Given the description of an element on the screen output the (x, y) to click on. 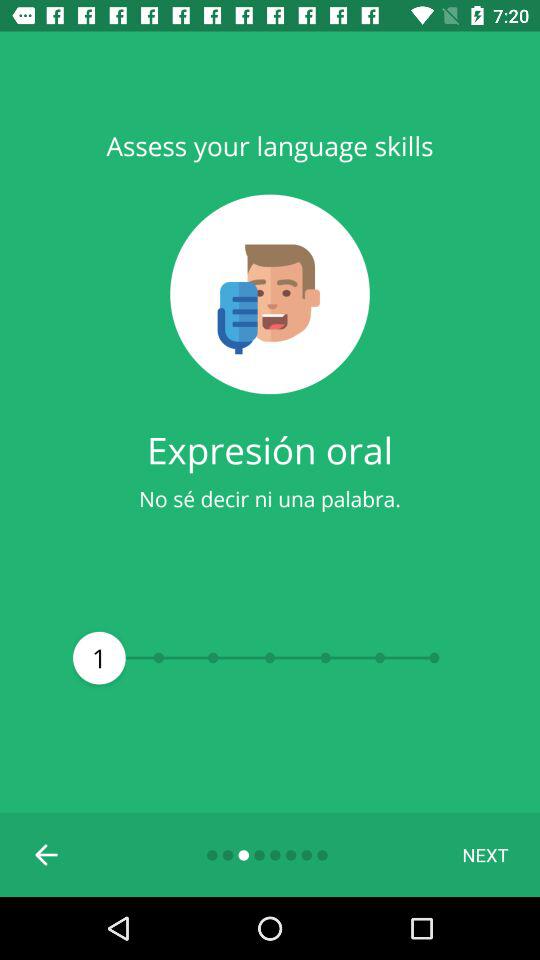
launch item at the bottom left corner (47, 854)
